Given the description of an element on the screen output the (x, y) to click on. 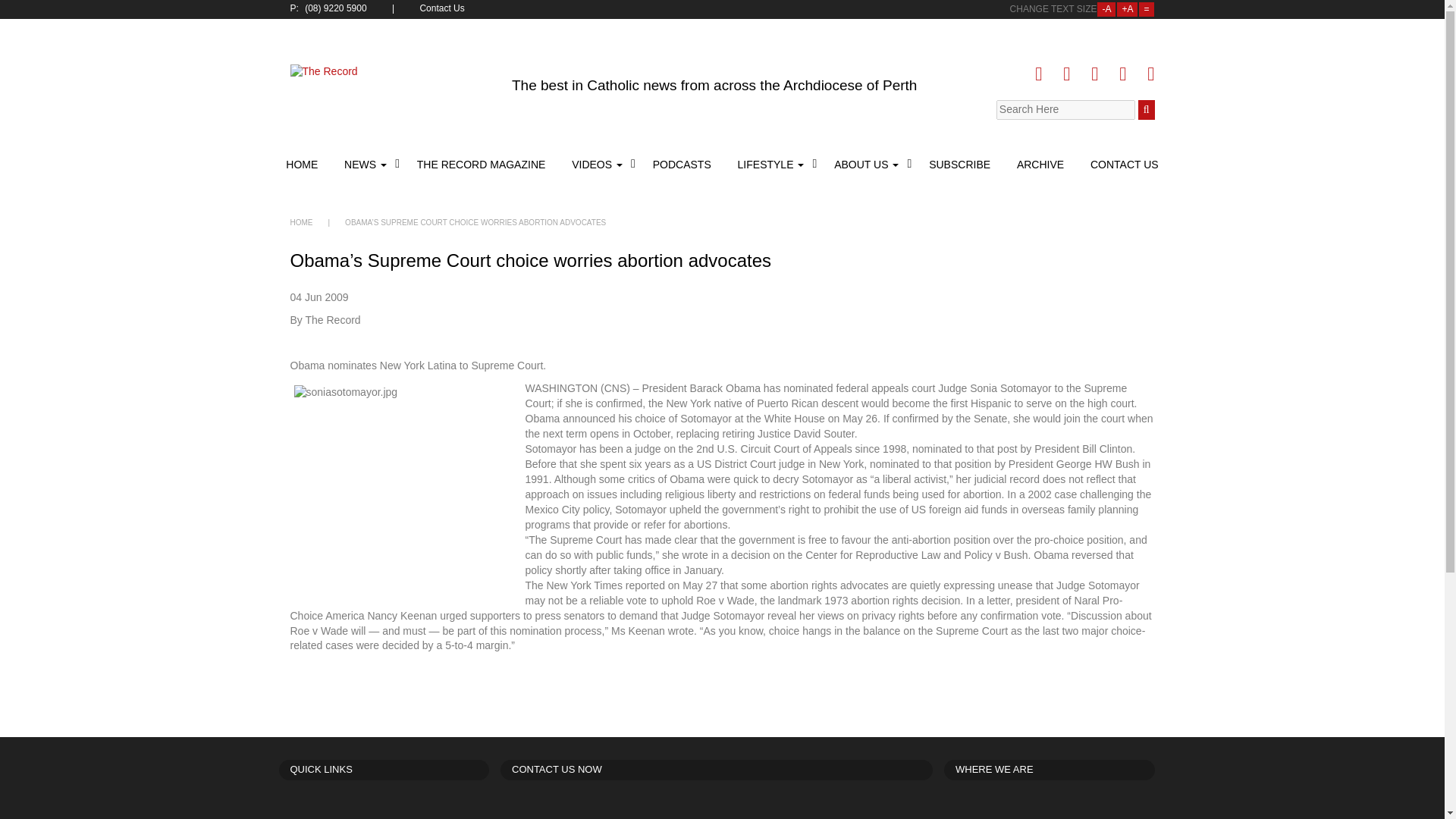
Our Youtube page (1122, 74)
HOME (303, 164)
Go to The Record. (301, 222)
PODCASTS (681, 164)
VIDEOS (598, 164)
Contact Us (443, 8)
soniasotomayor.jpg (407, 486)
THE RECORD MAGAZINE (481, 164)
Our Twitter page (1066, 74)
ABOUT US (867, 164)
The Record (389, 80)
SUBSCRIBE (959, 164)
NEWS (367, 164)
LIFESTYLE (772, 164)
Our Linked In page (1093, 74)
